Given the description of an element on the screen output the (x, y) to click on. 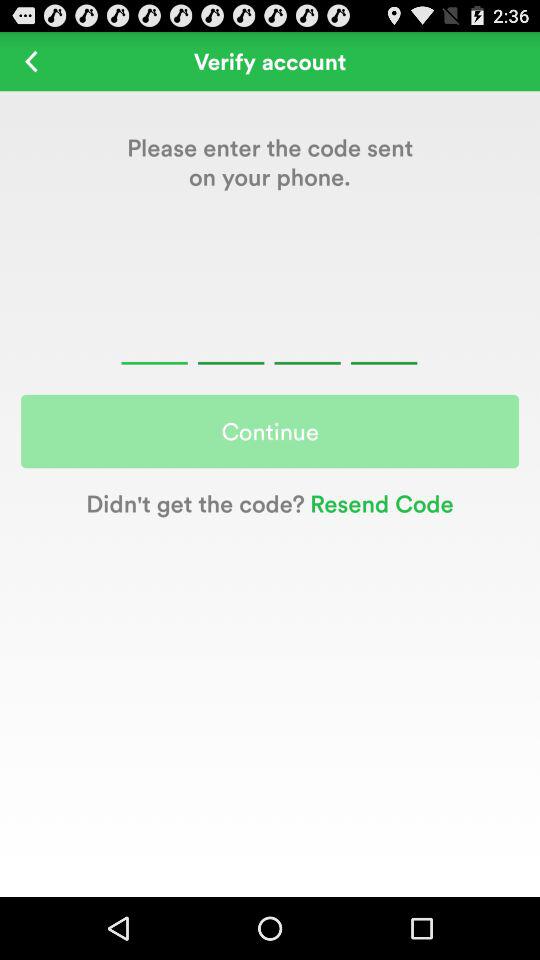
select the item above continue (269, 339)
